Given the description of an element on the screen output the (x, y) to click on. 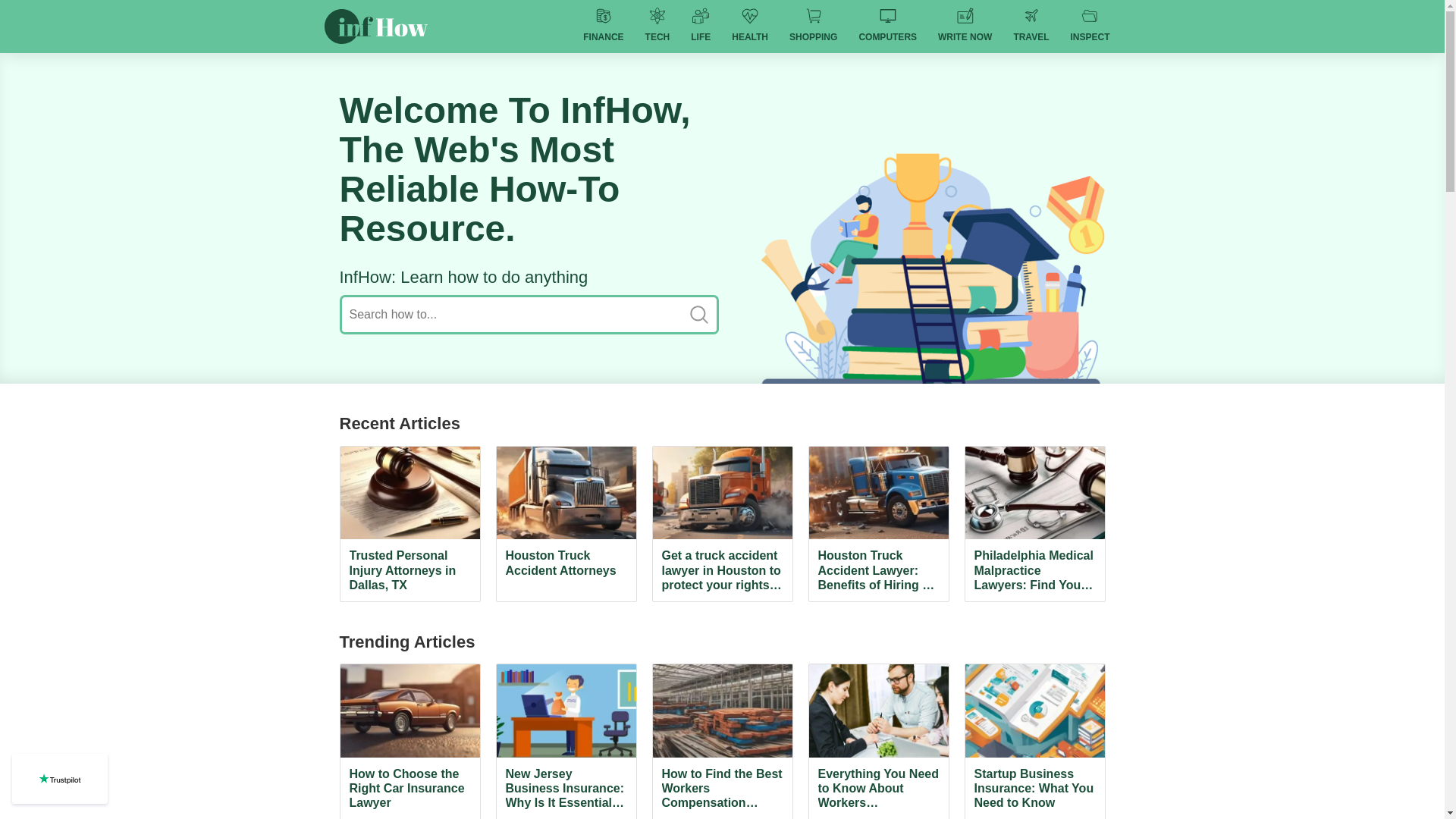
SHOPPING (812, 26)
WRITE NOW (965, 26)
FINANCE (602, 26)
Customer reviews powered by Trustpilot (59, 778)
HEALTH (749, 26)
How to Choose the Right Car Insurance Lawyer (409, 741)
Houston Truck Accident Attorneys (566, 523)
INSPECT (1089, 26)
TRAVEL (1031, 26)
COMPUTERS (887, 26)
Trusted Personal Injury Attorneys in Dallas, TX (409, 523)
